Given the description of an element on the screen output the (x, y) to click on. 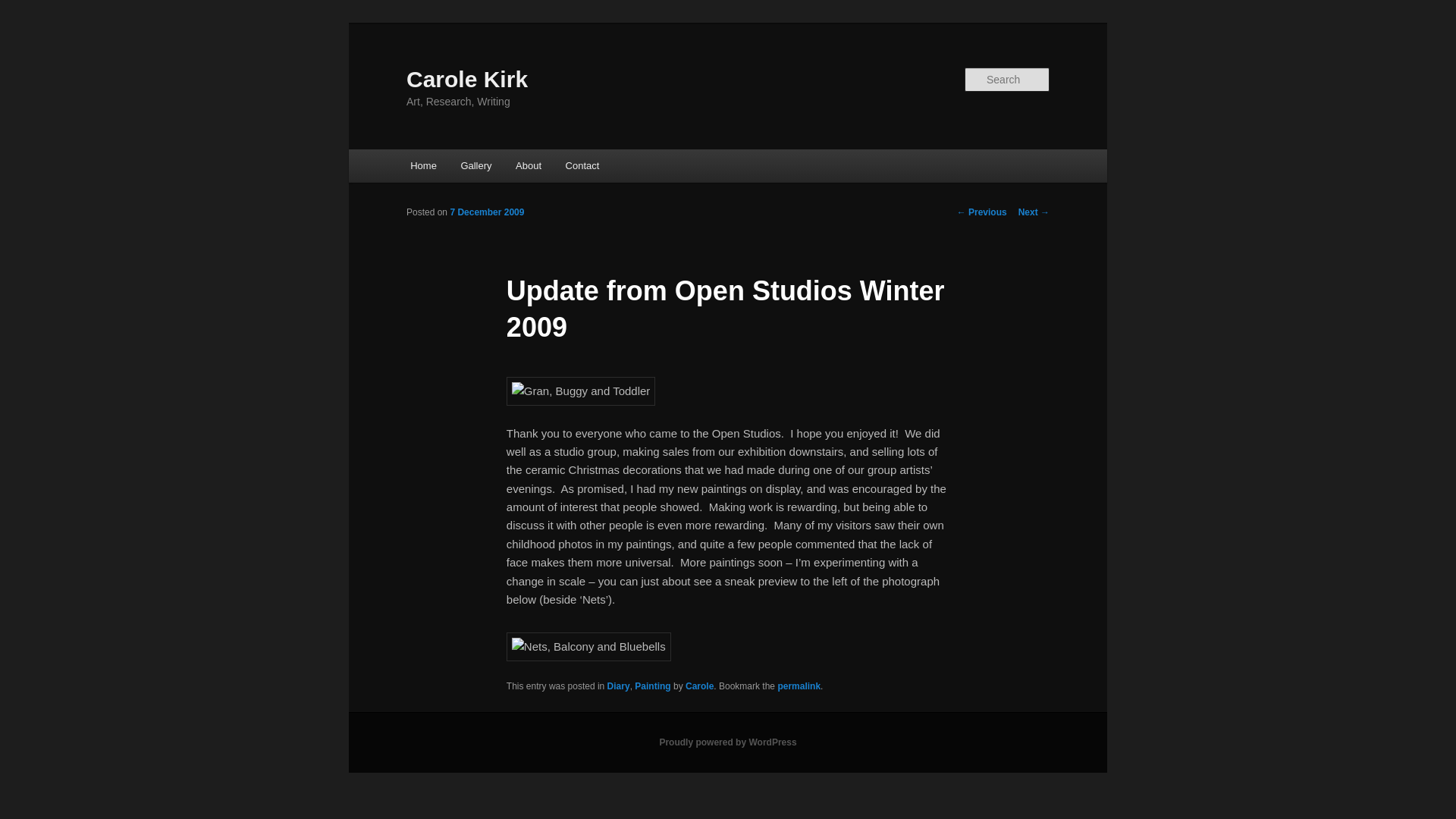
Carole (699, 685)
permalink (799, 685)
7 December 2009 (486, 212)
7:55 pm (486, 212)
Permalink to Update from Open Studios Winter 2009 (799, 685)
Semantic Personal Publishing Platform (727, 742)
Gallery (475, 165)
Nets, Balcony and Bluebells (588, 646)
Diary (618, 685)
